Given the description of an element on the screen output the (x, y) to click on. 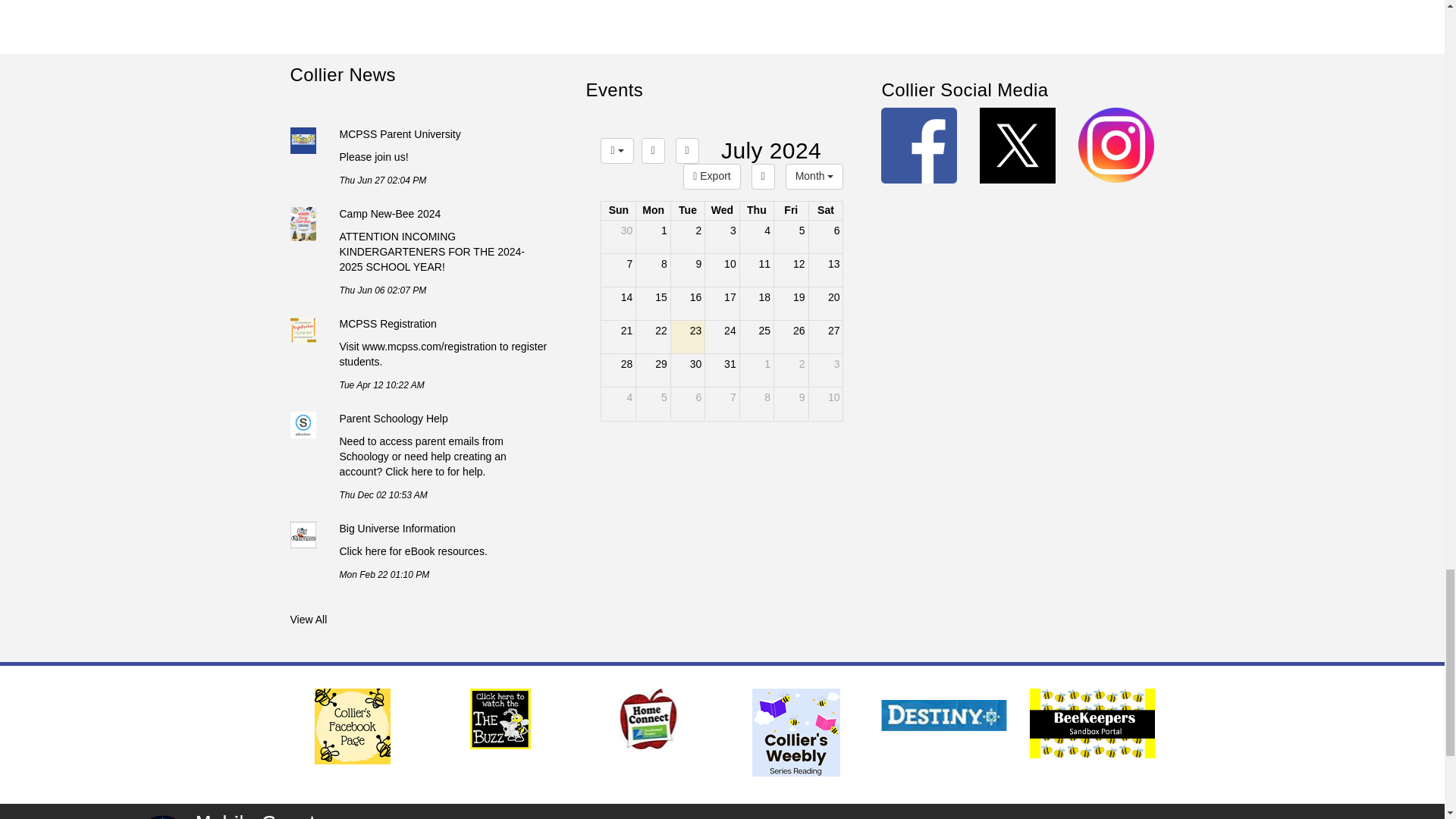
9 (791, 403)
26 (791, 336)
12 (791, 269)
11 (756, 269)
2 (722, 210)
17 (791, 369)
Thu (721, 303)
6 (756, 210)
2 (687, 403)
27 (687, 236)
3 (826, 336)
3 (722, 210)
